Given the description of an element on the screen output the (x, y) to click on. 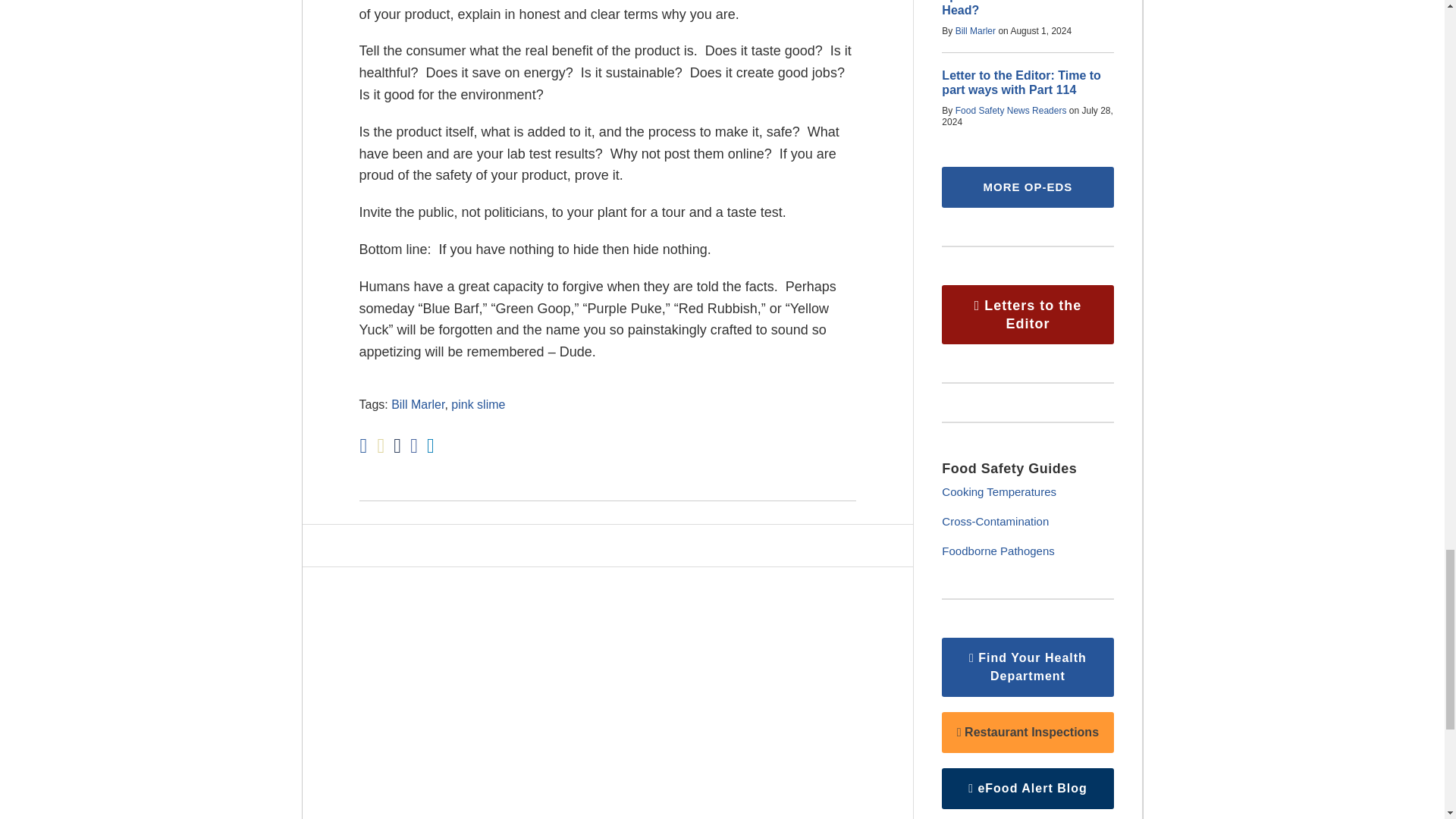
Bill Marler (417, 404)
pink slime (478, 404)
